Given the description of an element on the screen output the (x, y) to click on. 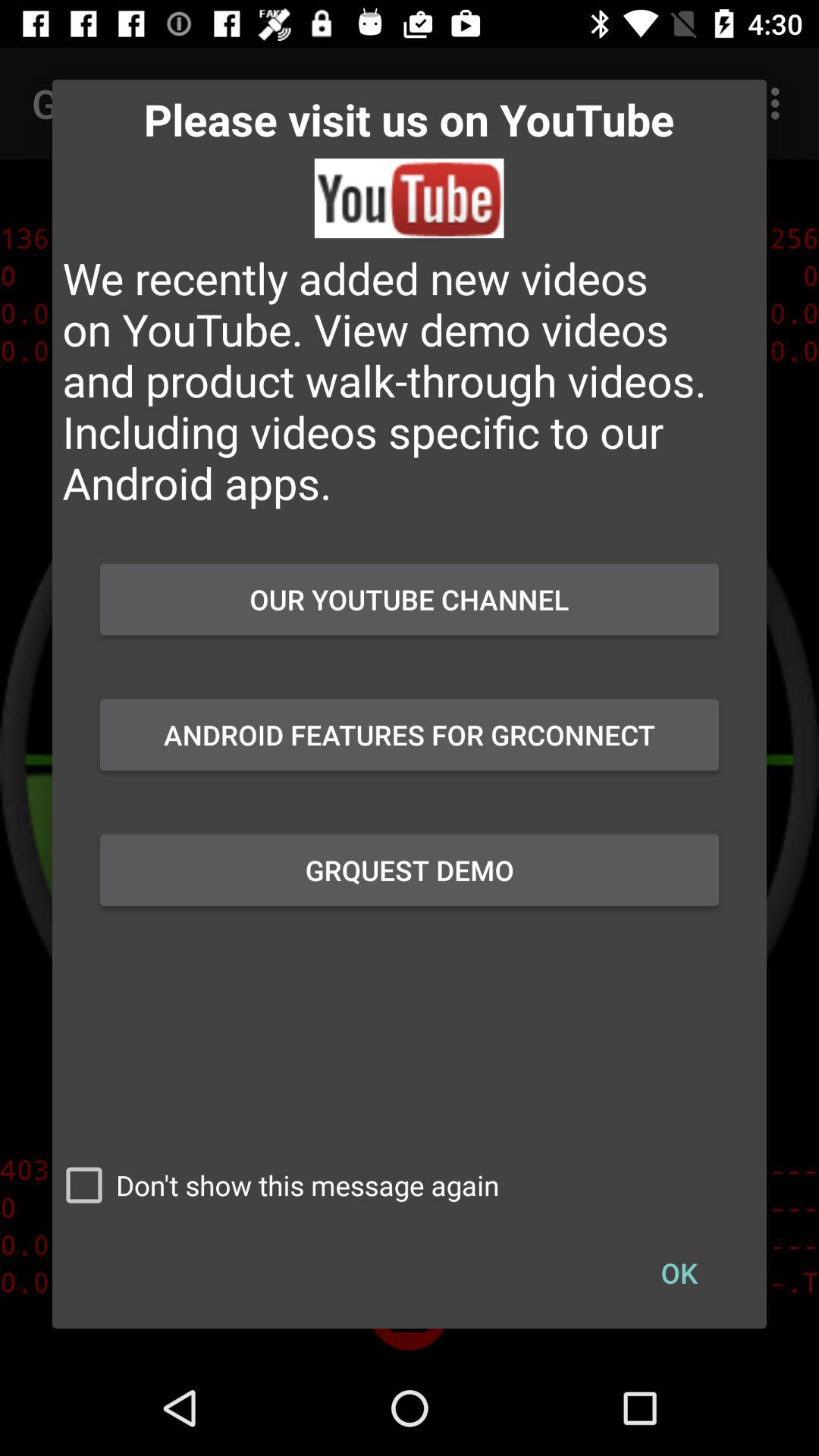
select the button to the left of ok item (275, 1185)
